Given the description of an element on the screen output the (x, y) to click on. 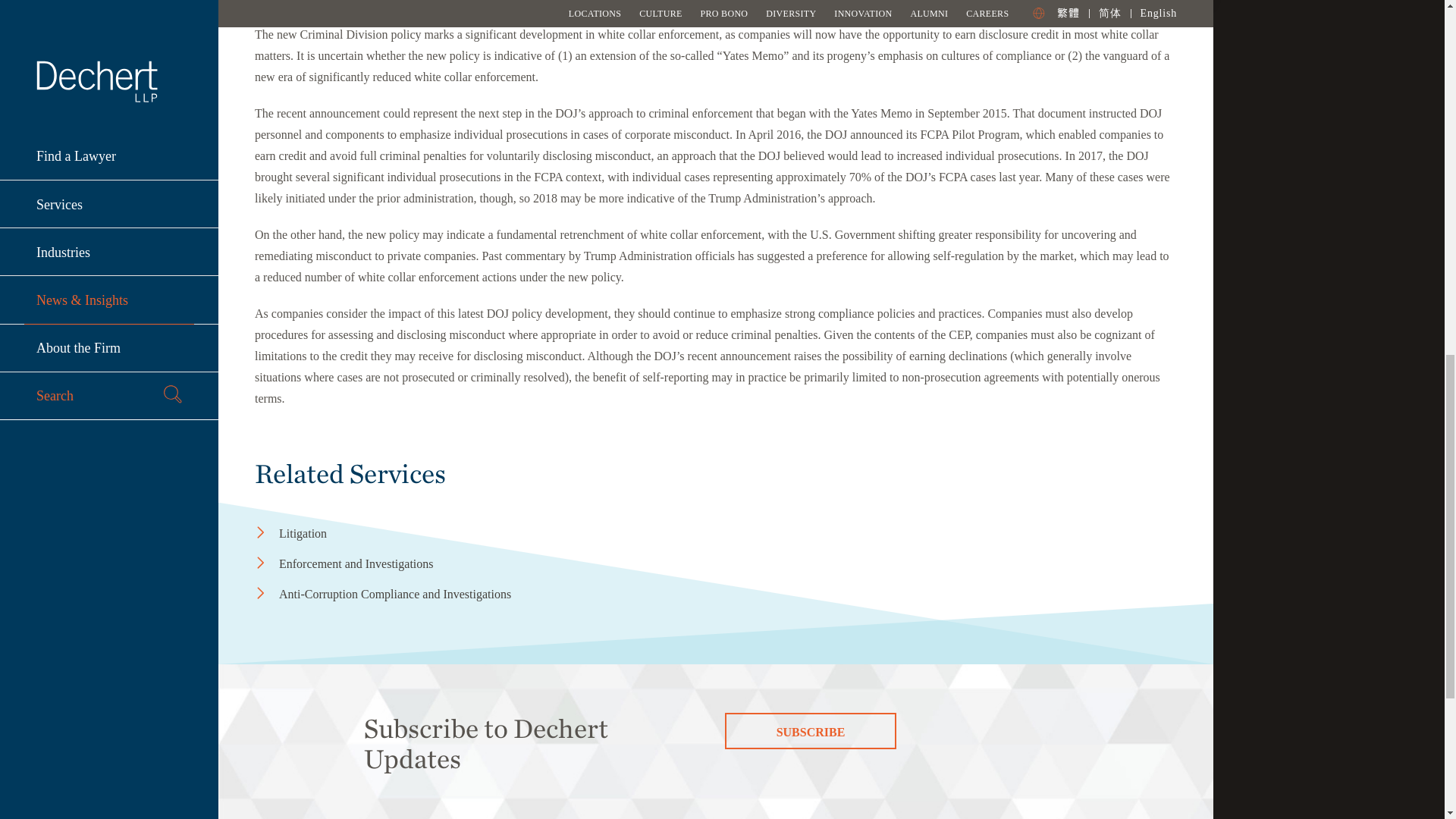
Anti-Corruption Compliance and Investigations (404, 594)
SUBSCRIBE (810, 730)
Litigation (404, 533)
Enforcement and Investigations (404, 564)
